Given the description of an element on the screen output the (x, y) to click on. 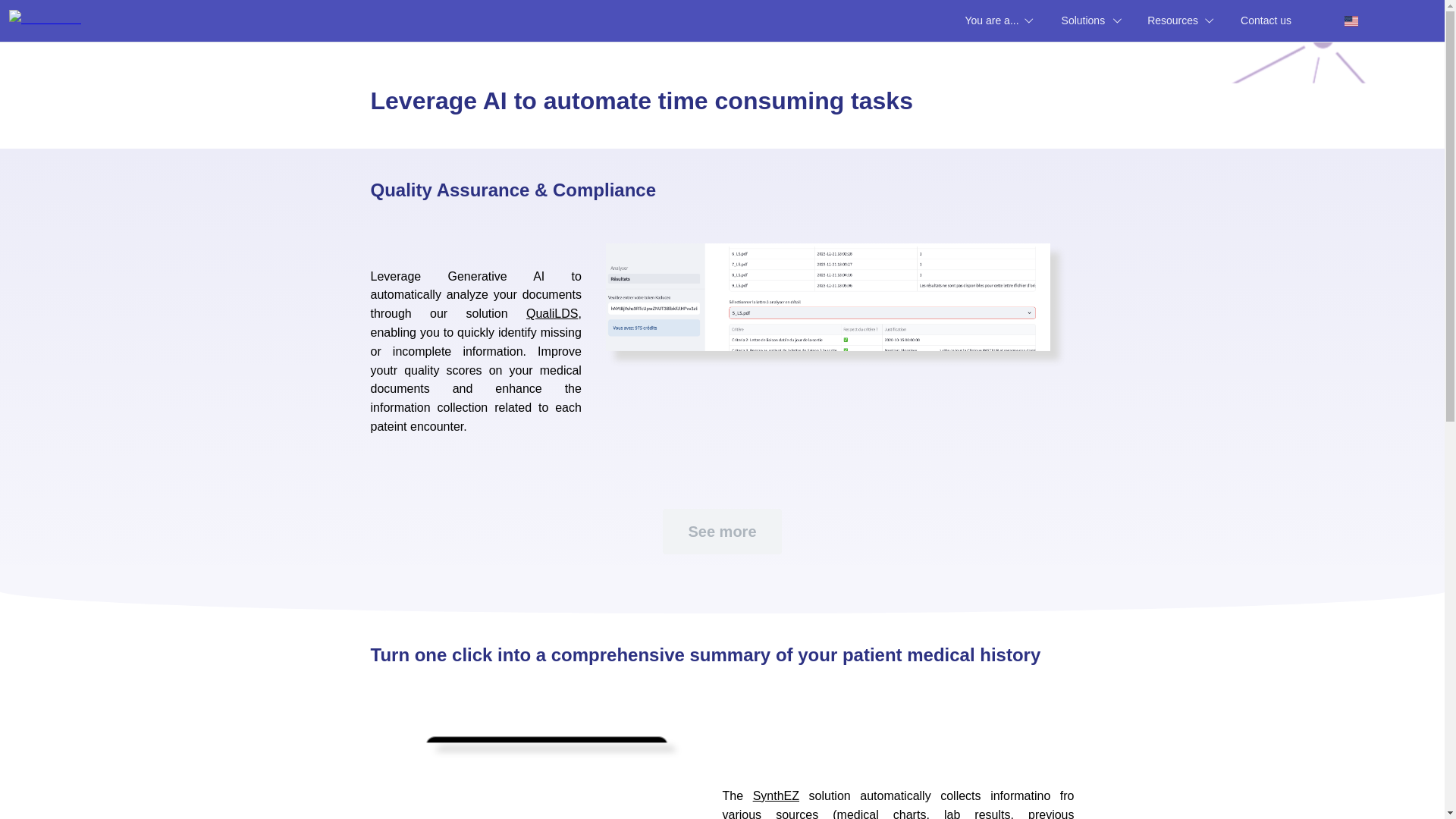
Contact us (1276, 20)
See more (722, 21)
SynthEZ (402, 530)
See more (447, 795)
